Given the description of an element on the screen output the (x, y) to click on. 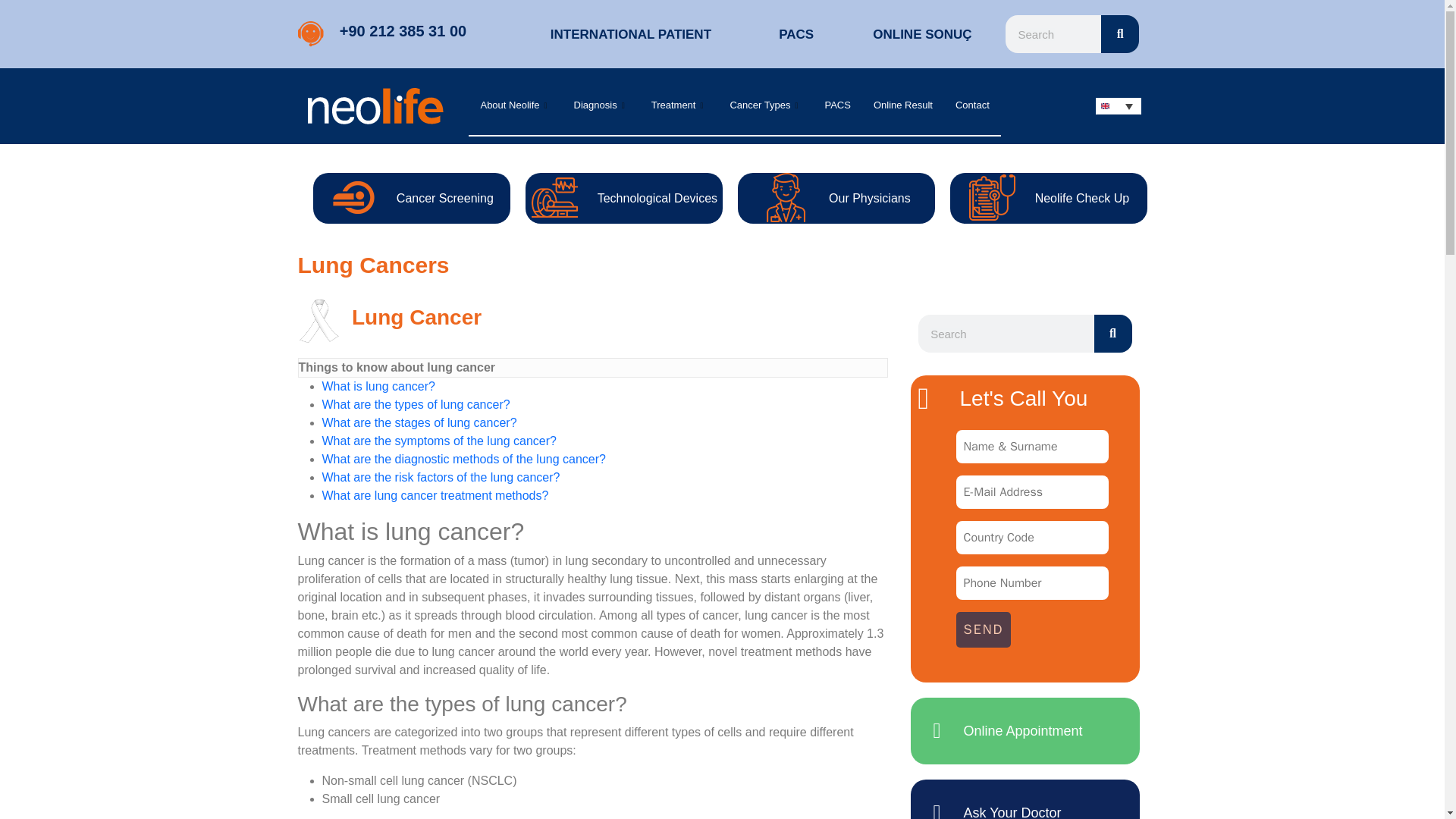
Cancer Types (764, 106)
Treatment (679, 106)
Diagnosis (601, 106)
PACS (795, 34)
About Neolife (515, 106)
INTERNATIONAL PATIENT (630, 34)
SEND (982, 629)
